Given the description of an element on the screen output the (x, y) to click on. 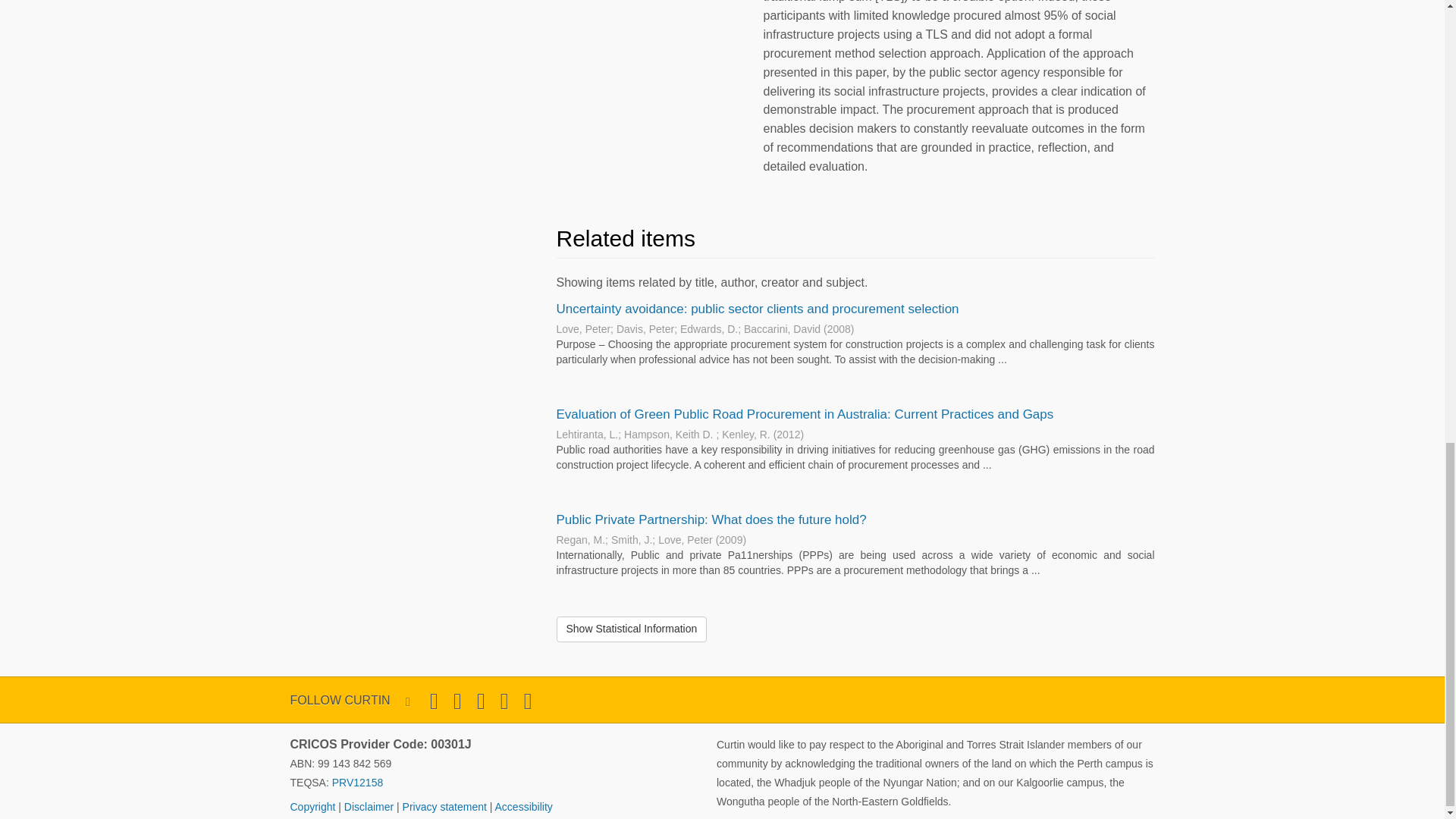
Public Private Partnership: What does the future hold? (711, 519)
Show Statistical Information (631, 629)
